Given the description of an element on the screen output the (x, y) to click on. 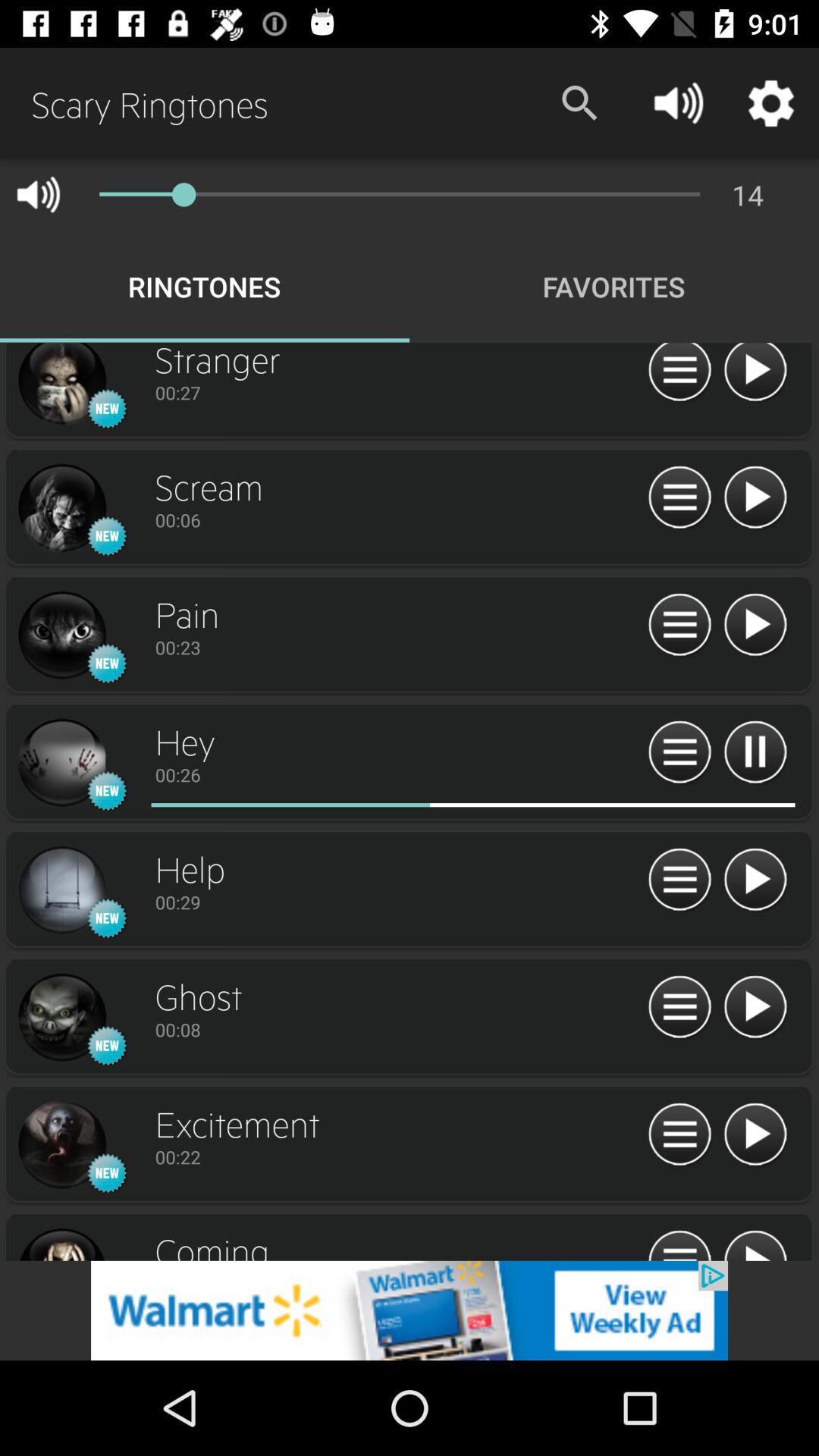
more options (679, 752)
